Given the description of an element on the screen output the (x, y) to click on. 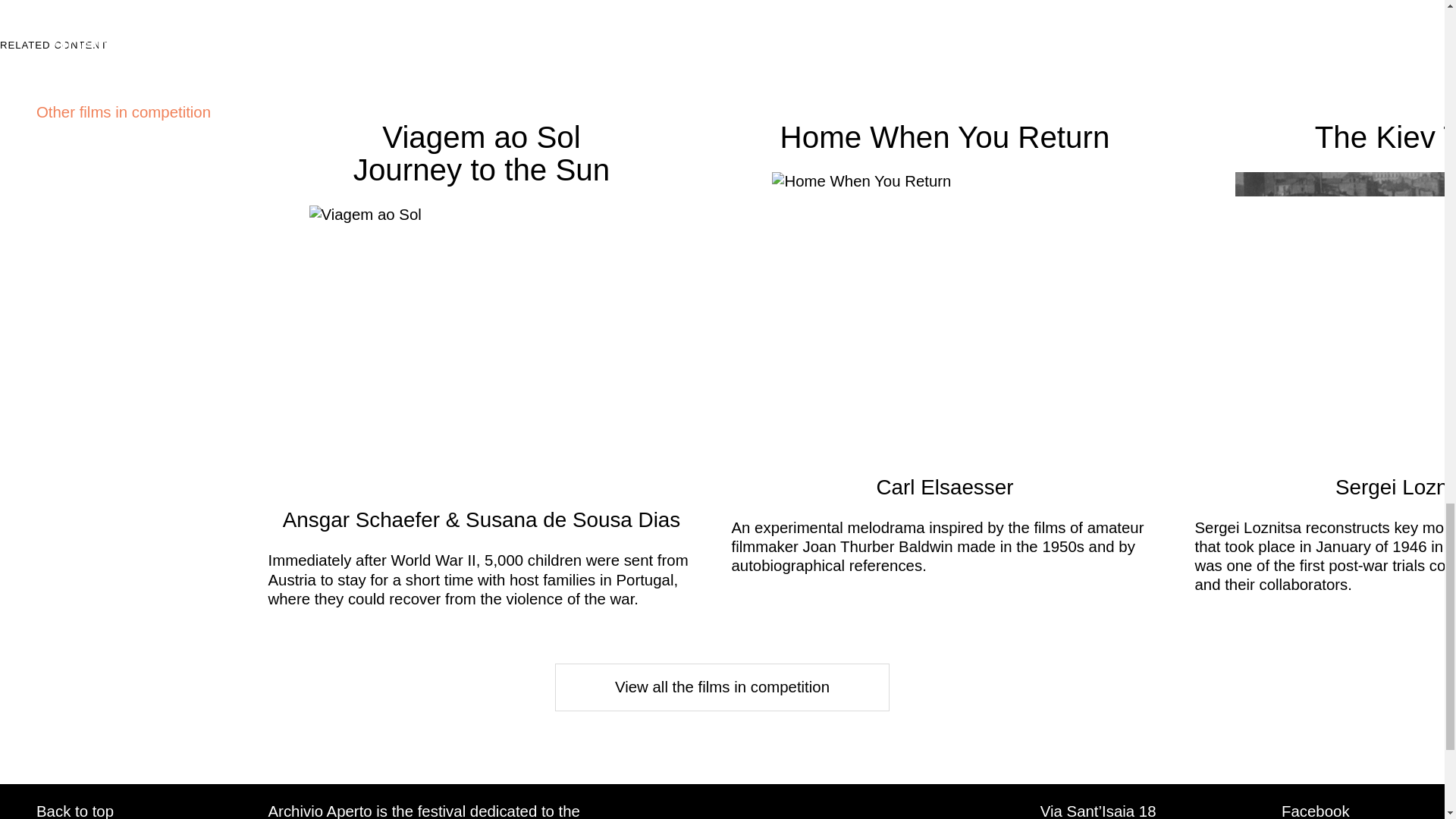
View all the films in competition (721, 687)
Back to top (74, 811)
Facebook (1315, 811)
